Given the description of an element on the screen output the (x, y) to click on. 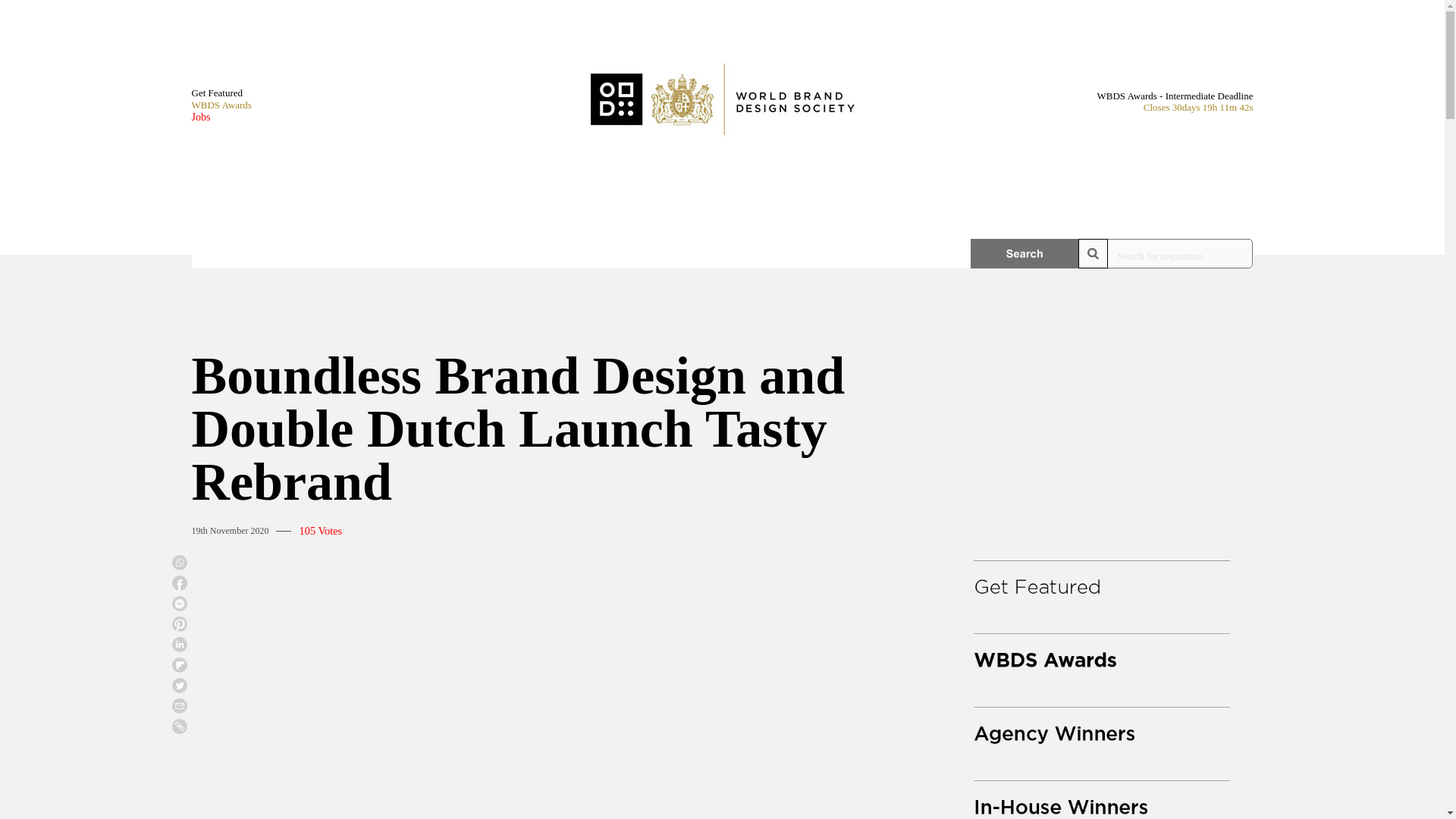
Get Featured (220, 92)
Search (1024, 253)
WBDS Awards (220, 104)
Jobs (220, 117)
Search (1024, 253)
